Given the description of an element on the screen output the (x, y) to click on. 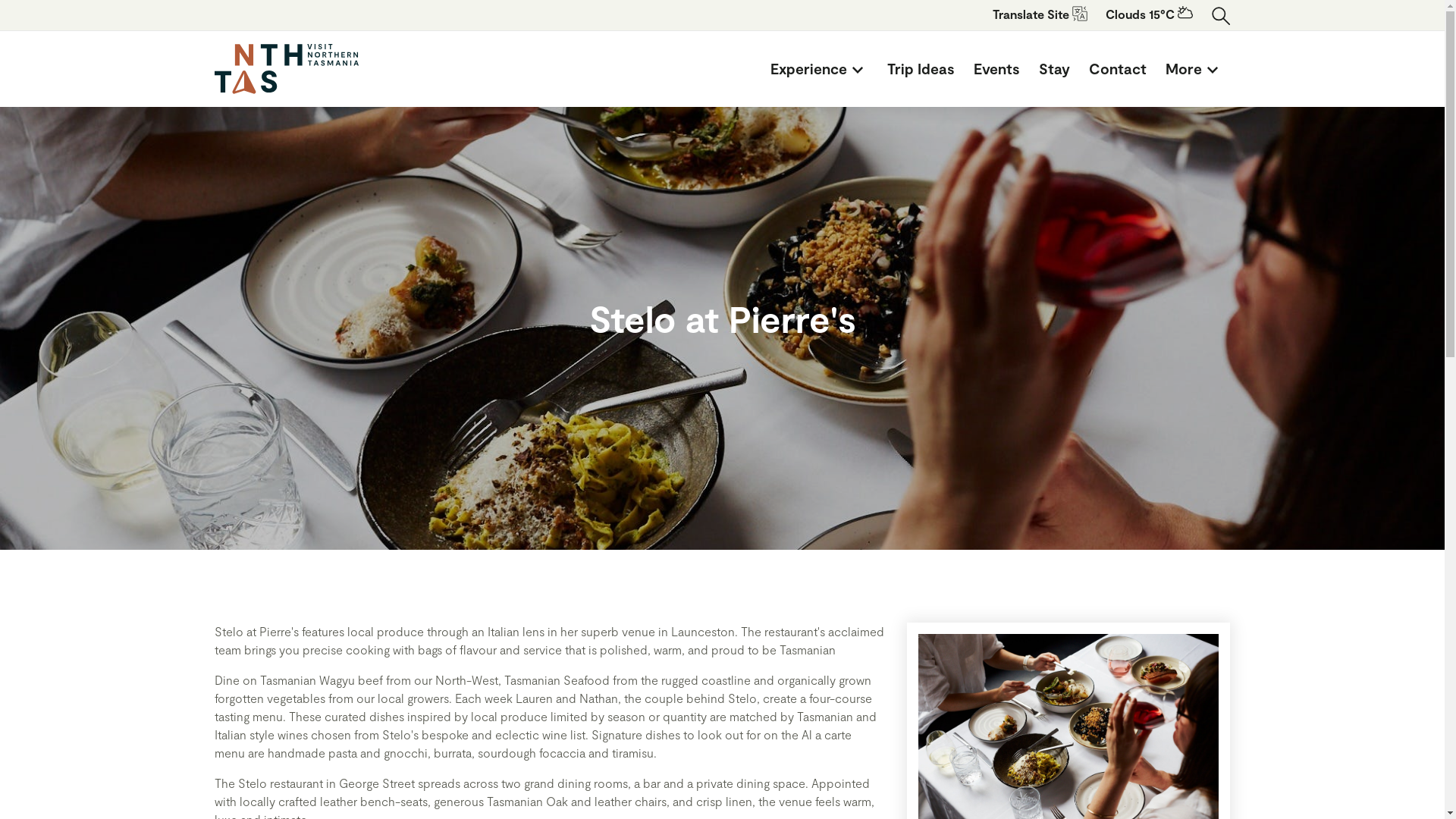
Trip Ideas Element type: text (920, 68)
Events Element type: text (996, 68)
More Element type: text (1193, 68)
Contact Element type: text (1117, 68)
Experience Element type: text (818, 68)
Stay Element type: text (1054, 68)
